Given the description of an element on the screen output the (x, y) to click on. 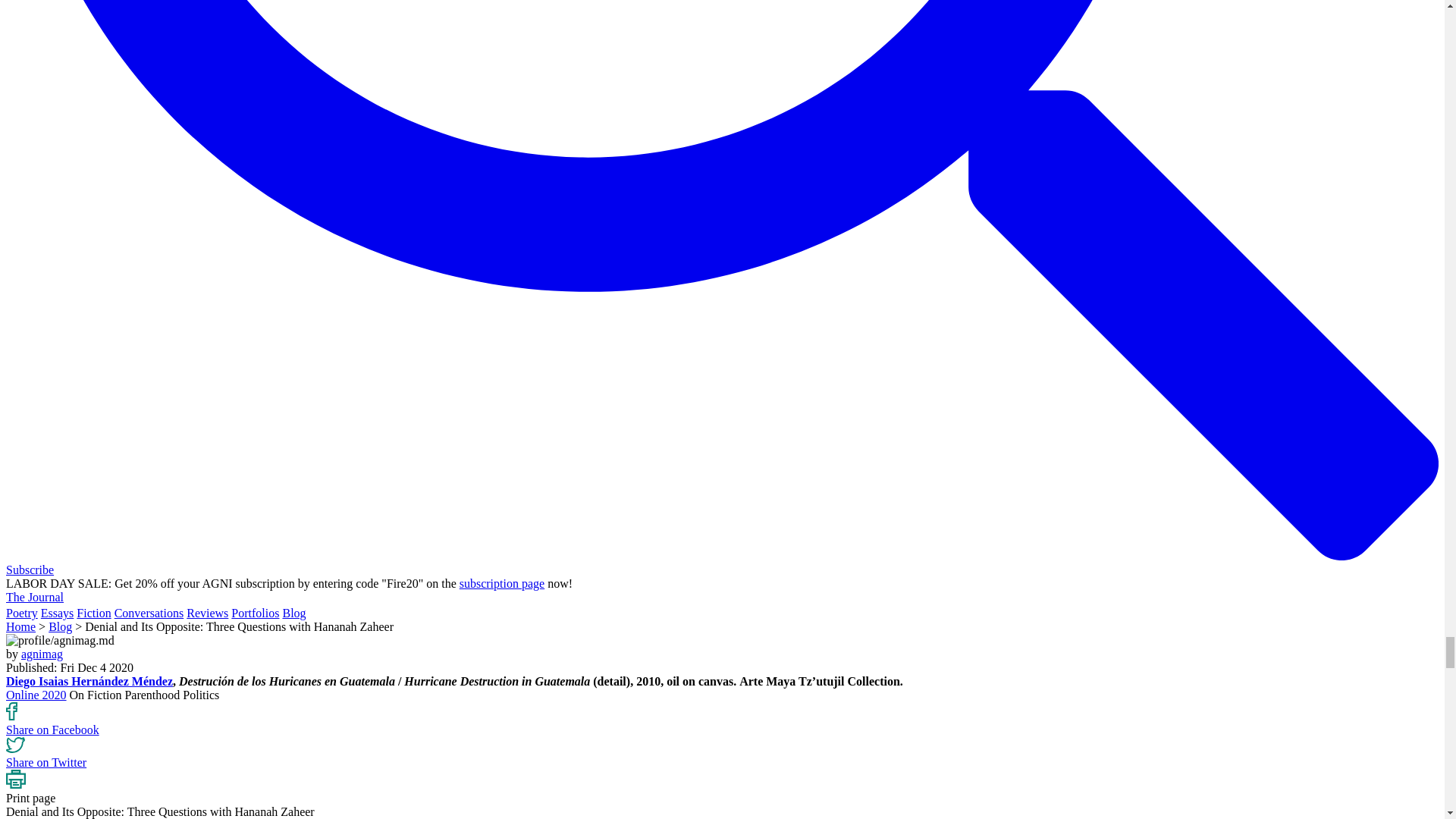
Blog (59, 626)
Portfolios (255, 612)
Fiction (93, 612)
agnimag (41, 653)
Page 1Created with Sketch. (15, 778)
Page 1Created with Sketch. (14, 744)
The Journal (34, 596)
Reviews (207, 612)
Blog (293, 612)
Online 2020 (35, 694)
